Given the description of an element on the screen output the (x, y) to click on. 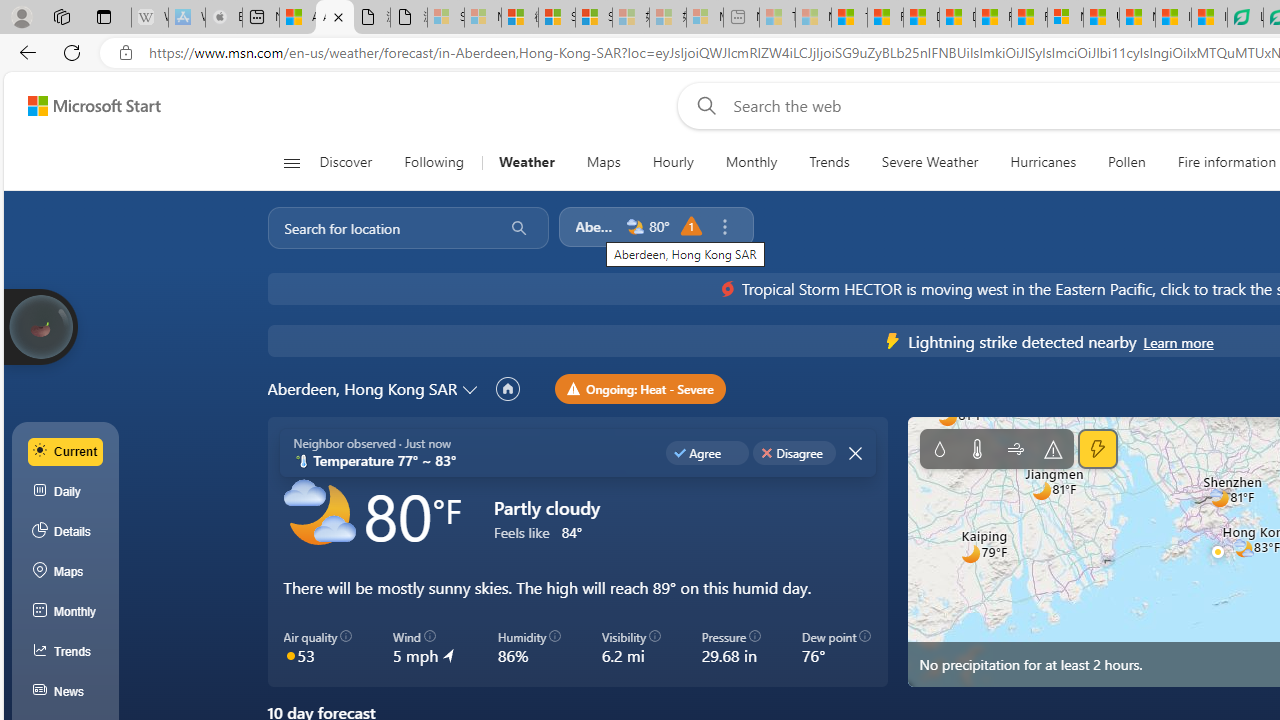
Weather (526, 162)
Pollen (1126, 162)
Search for location (379, 227)
Skip to content (86, 105)
Trends (828, 162)
Skip to footer (82, 105)
Trends (65, 651)
LendingTree - Compare Lenders (1245, 17)
Class: closeButton-DS-EntryPoint1-1 (854, 452)
Aberdeen, Hong Kong SAR (362, 389)
